Given the description of an element on the screen output the (x, y) to click on. 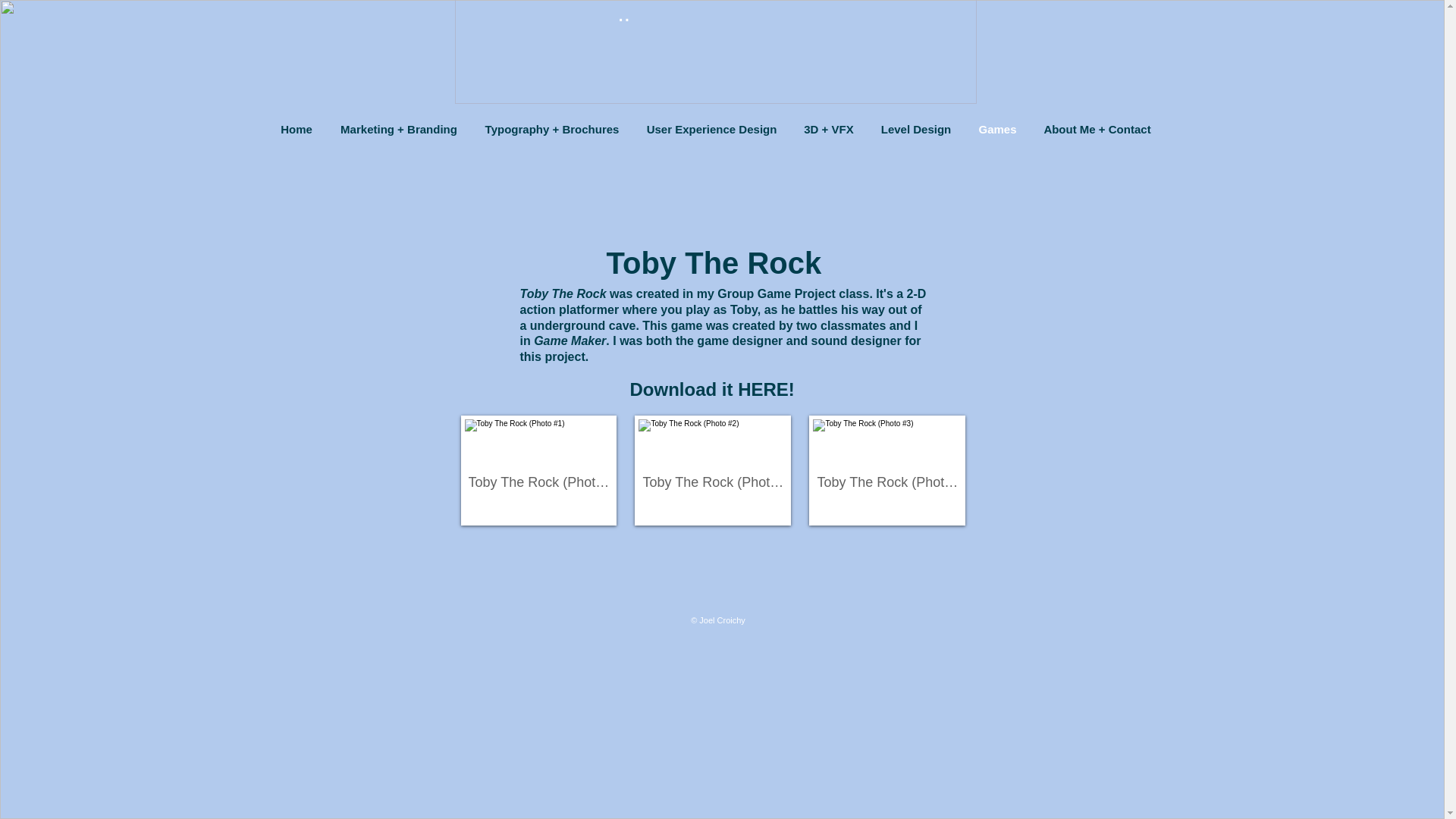
User Experience Design (710, 128)
Home (296, 128)
Games (996, 128)
Level Design (916, 128)
